Given the description of an element on the screen output the (x, y) to click on. 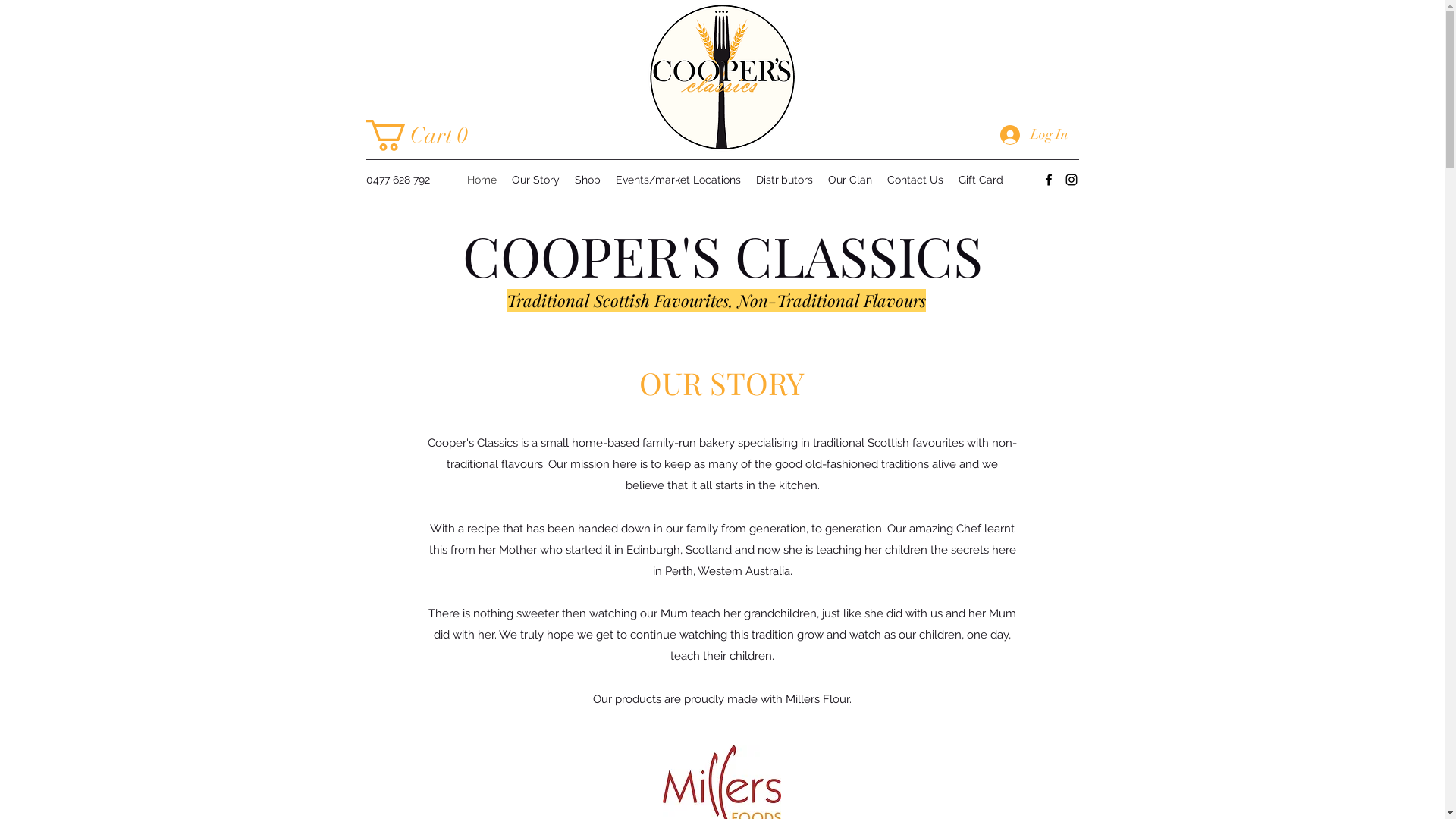
Cart
0 Element type: text (423, 134)
Gift Card Element type: text (980, 179)
Events/market Locations Element type: text (678, 179)
Distributors Element type: text (783, 179)
Our Story Element type: text (534, 179)
Our Clan Element type: text (849, 179)
Shop Element type: text (587, 179)
Contact Us Element type: text (914, 179)
Home Element type: text (481, 179)
Log In Element type: text (1033, 134)
